Given the description of an element on the screen output the (x, y) to click on. 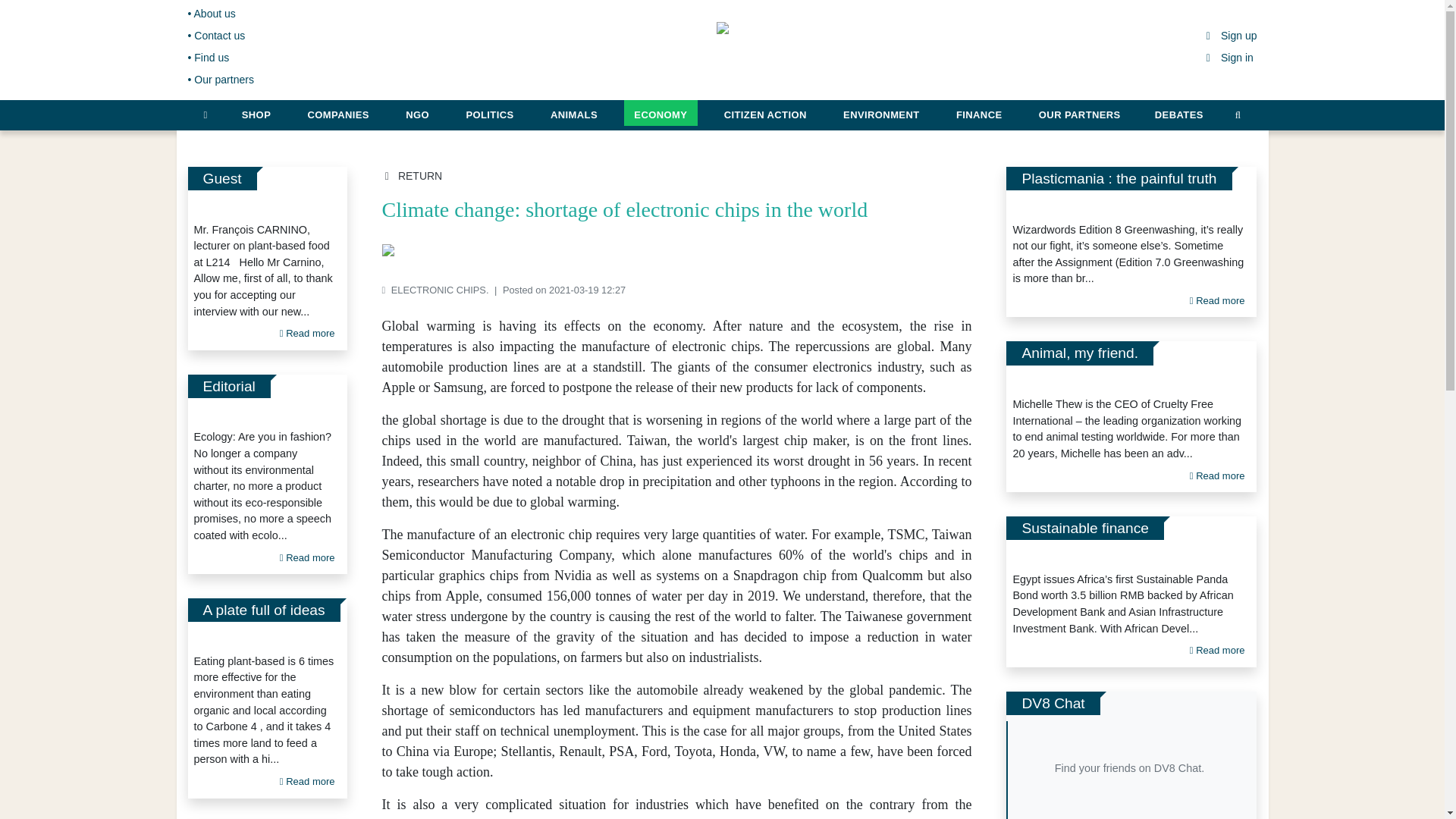
Sign in (1227, 57)
Sign up (1229, 35)
SHOP (256, 112)
English (1410, 13)
COMPANIES (338, 112)
